Given the description of an element on the screen output the (x, y) to click on. 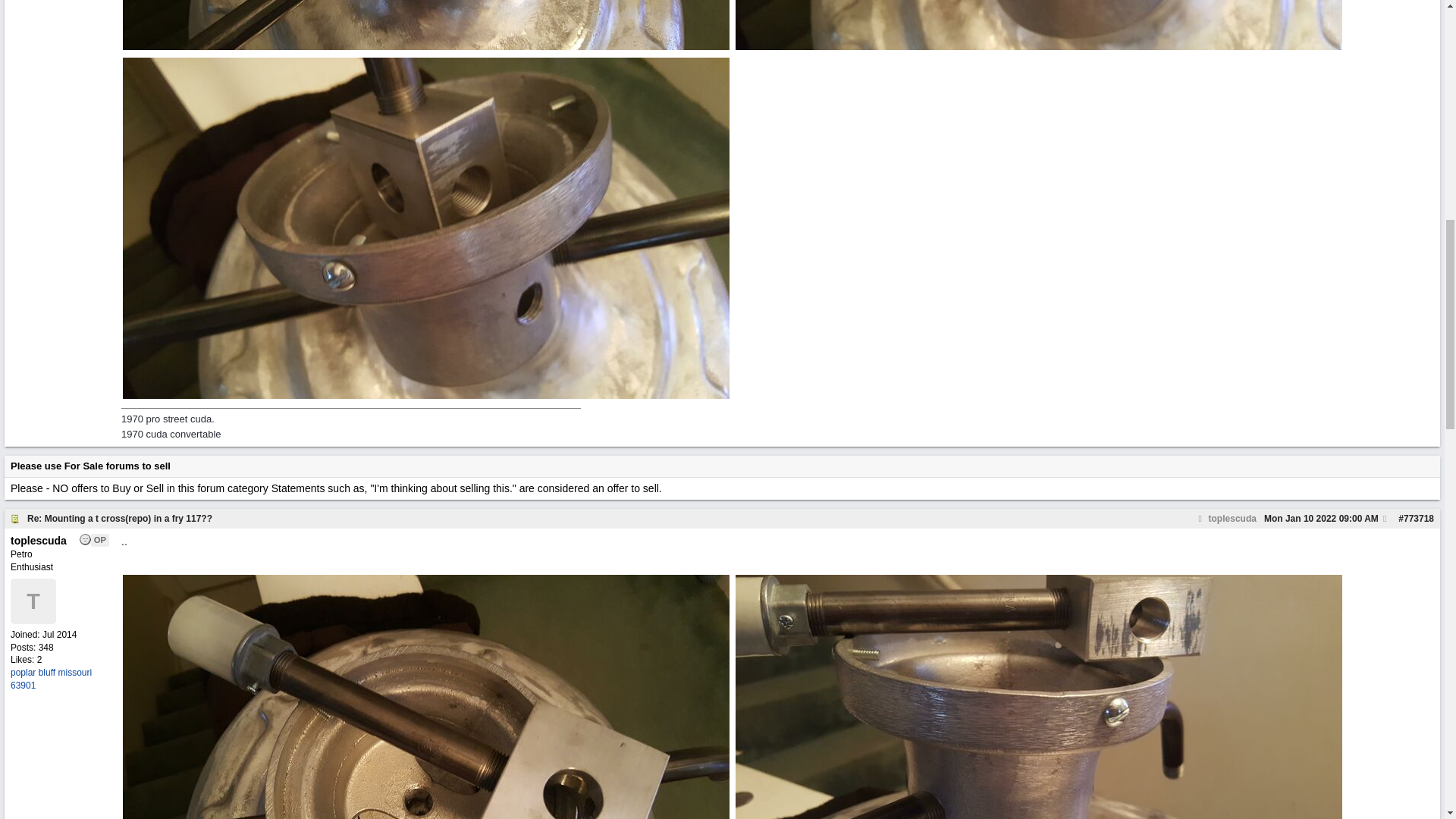
773718 (1418, 518)
in reply to (1224, 518)
toplescuda (1224, 518)
